Given the description of an element on the screen output the (x, y) to click on. 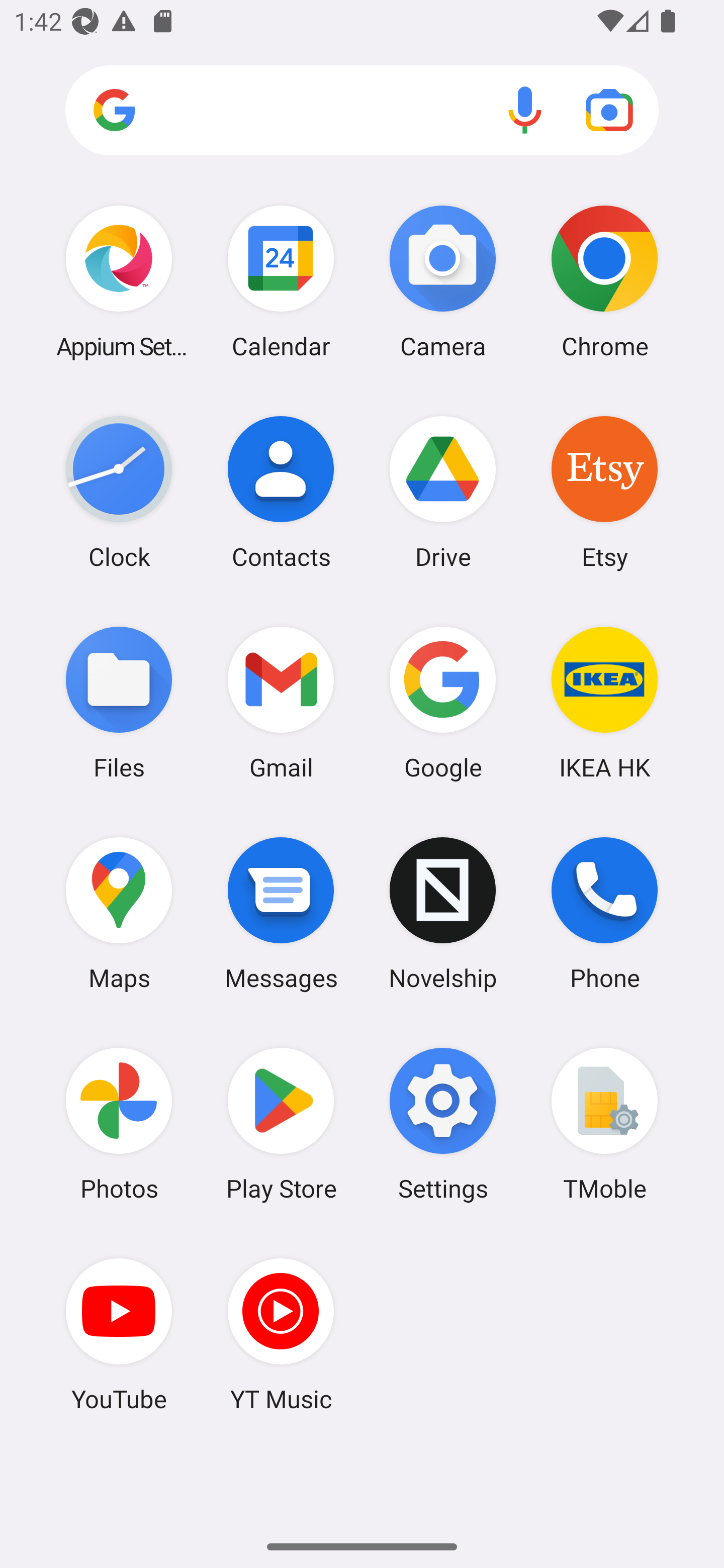
Search apps, web and more (361, 110)
Voice search (524, 109)
Google Lens (608, 109)
Appium Settings (118, 281)
Calendar (280, 281)
Camera (443, 281)
Chrome (604, 281)
Clock (118, 492)
Contacts (280, 492)
Drive (443, 492)
Etsy (604, 492)
Files (118, 702)
Gmail (280, 702)
Google (443, 702)
IKEA HK (604, 702)
Maps (118, 913)
Messages (280, 913)
Novelship (443, 913)
Phone (604, 913)
Photos (118, 1124)
Play Store (280, 1124)
Settings (443, 1124)
TMoble (604, 1124)
YouTube (118, 1334)
YT Music (280, 1334)
